Given the description of an element on the screen output the (x, y) to click on. 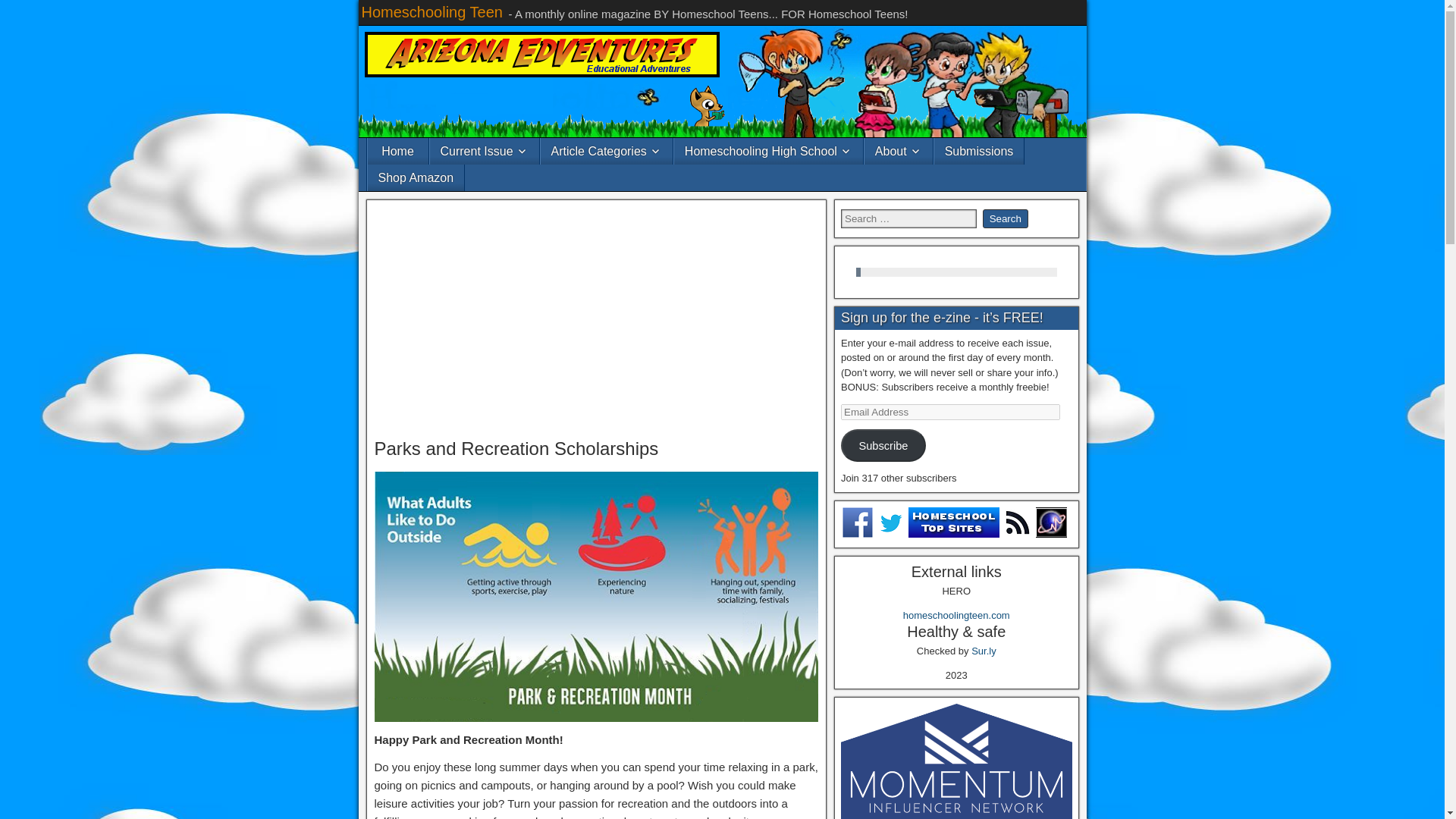
Homeschooling High School (768, 151)
About (898, 151)
Current Issue (483, 151)
Parks and Recreation Scholarships (516, 448)
Search (1004, 218)
Shop Amazon (415, 177)
Homeschooling Teen (431, 12)
Article Categories (606, 151)
Submissions (979, 151)
Advertisement (596, 319)
Search (1004, 218)
Home (397, 151)
Arizona Edventures (541, 53)
